Given the description of an element on the screen output the (x, y) to click on. 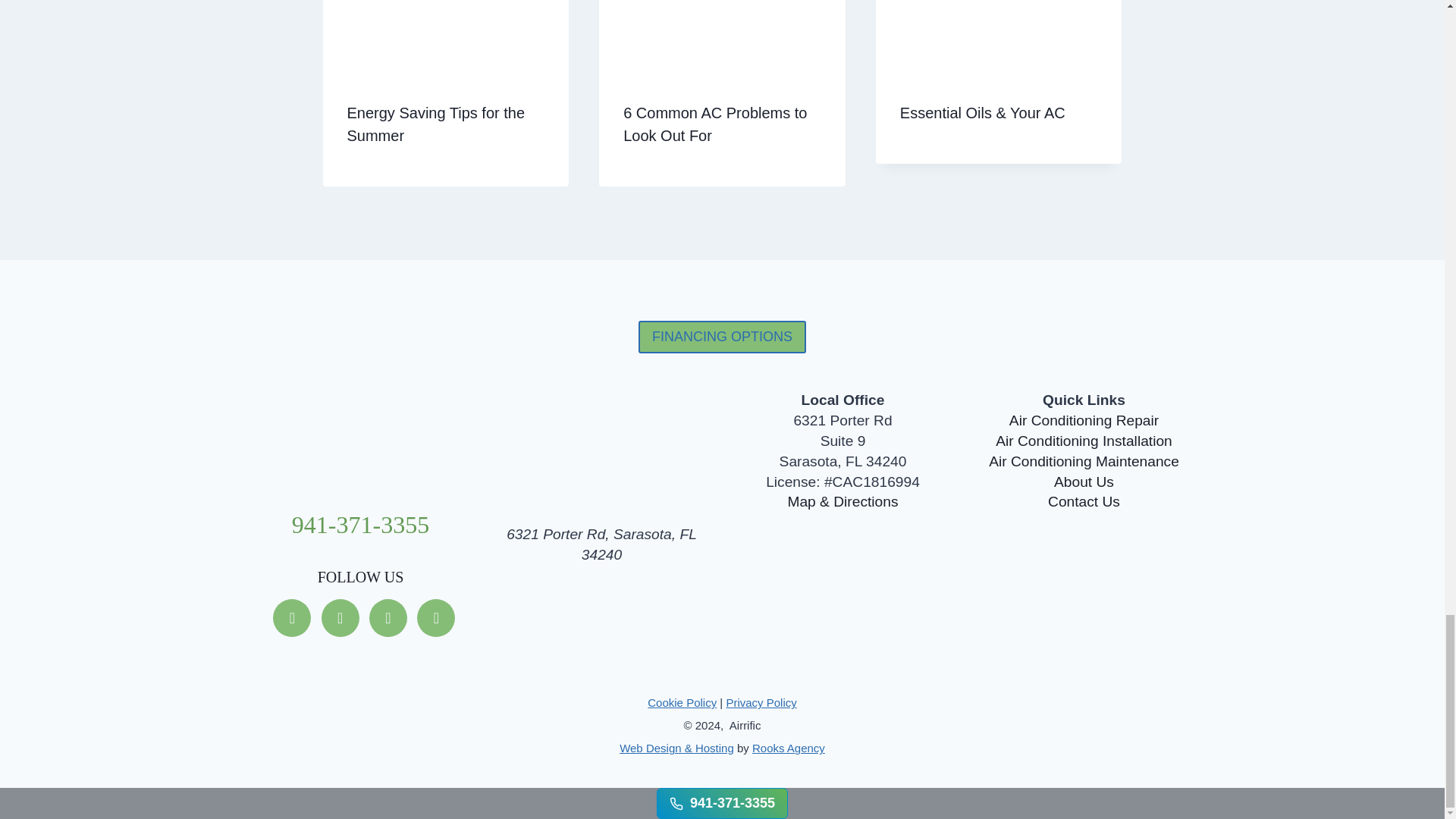
Tampa-Sarasota Web Design (676, 748)
Facebook (292, 616)
Default Label (388, 616)
Tampa-Sarasota Marketing Company (788, 748)
941-371-3355 (360, 524)
Twitter (340, 616)
Default Label (435, 616)
